Given the description of an element on the screen output the (x, y) to click on. 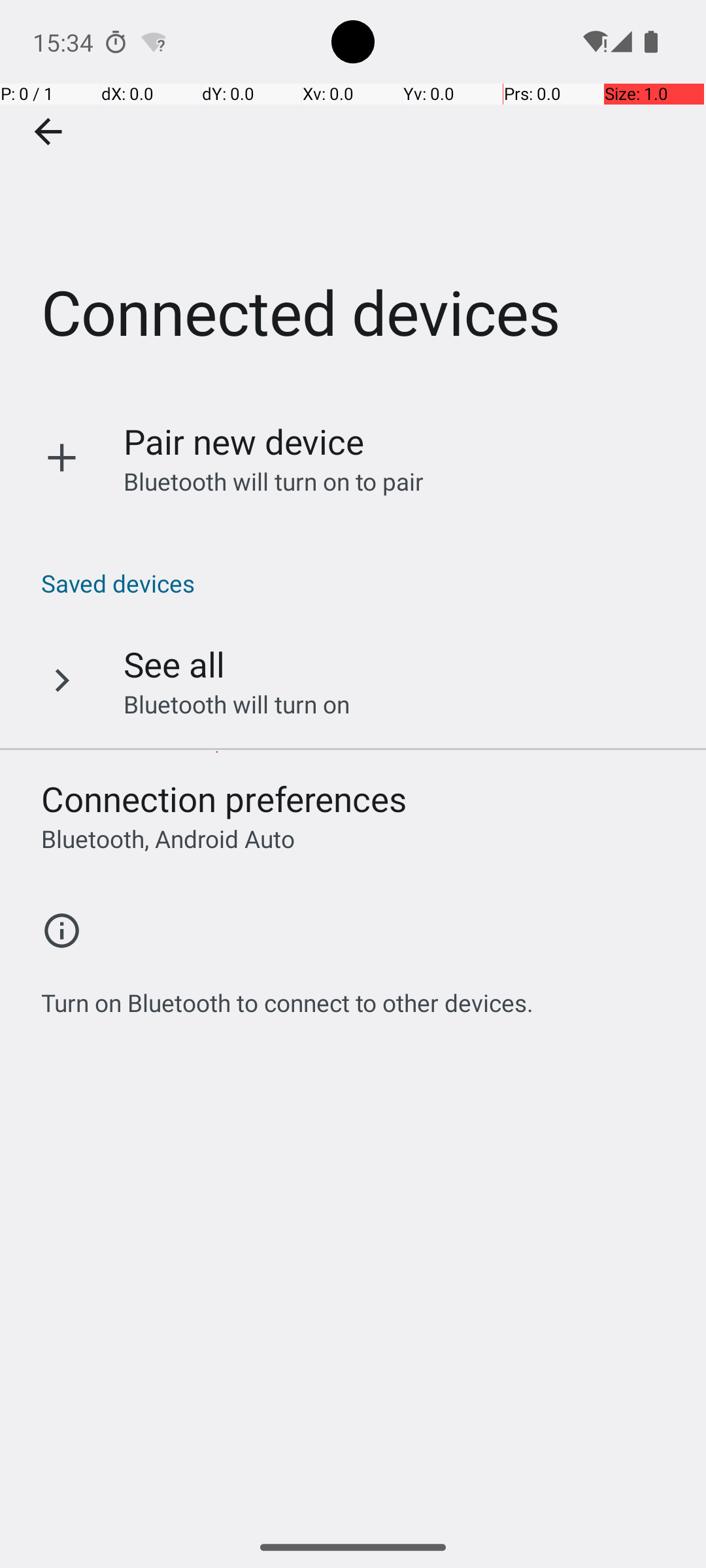
Bluetooth will turn on to pair Element type: android.widget.TextView (273, 480)
Bluetooth will turn on Element type: android.widget.TextView (236, 703)
Turn on Bluetooth to connect to other devices. Element type: android.widget.TextView (287, 995)
